Given the description of an element on the screen output the (x, y) to click on. 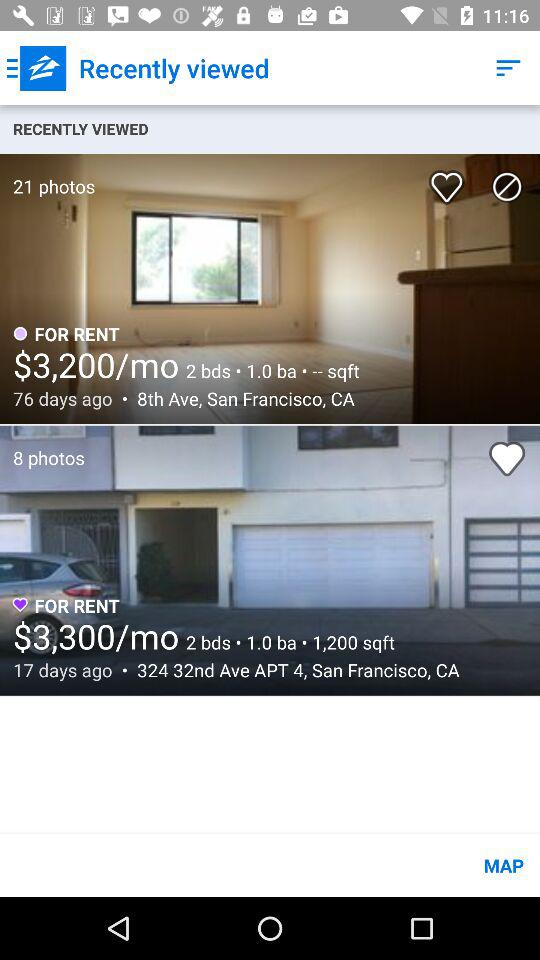
choose the map (270, 864)
